Given the description of an element on the screen output the (x, y) to click on. 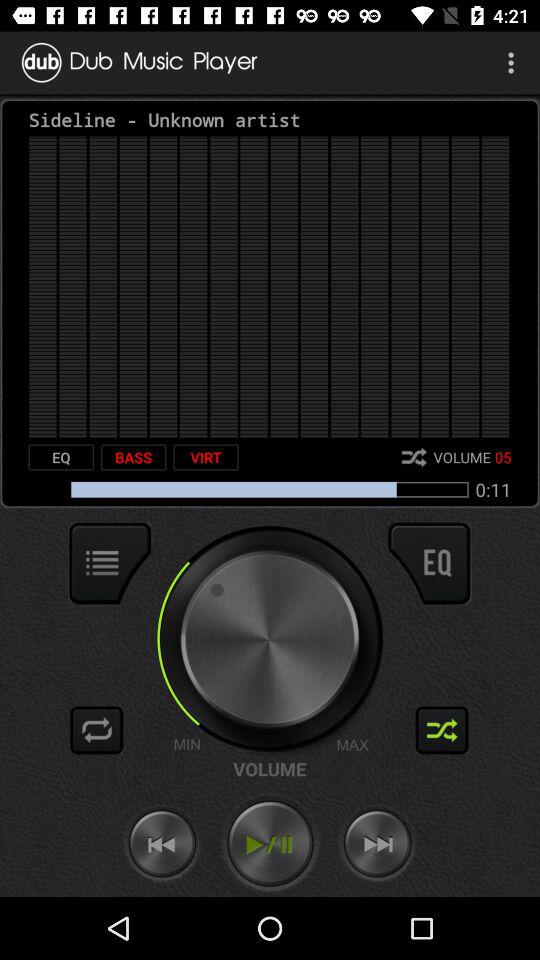
pause/play song (269, 844)
